Given the description of an element on the screen output the (x, y) to click on. 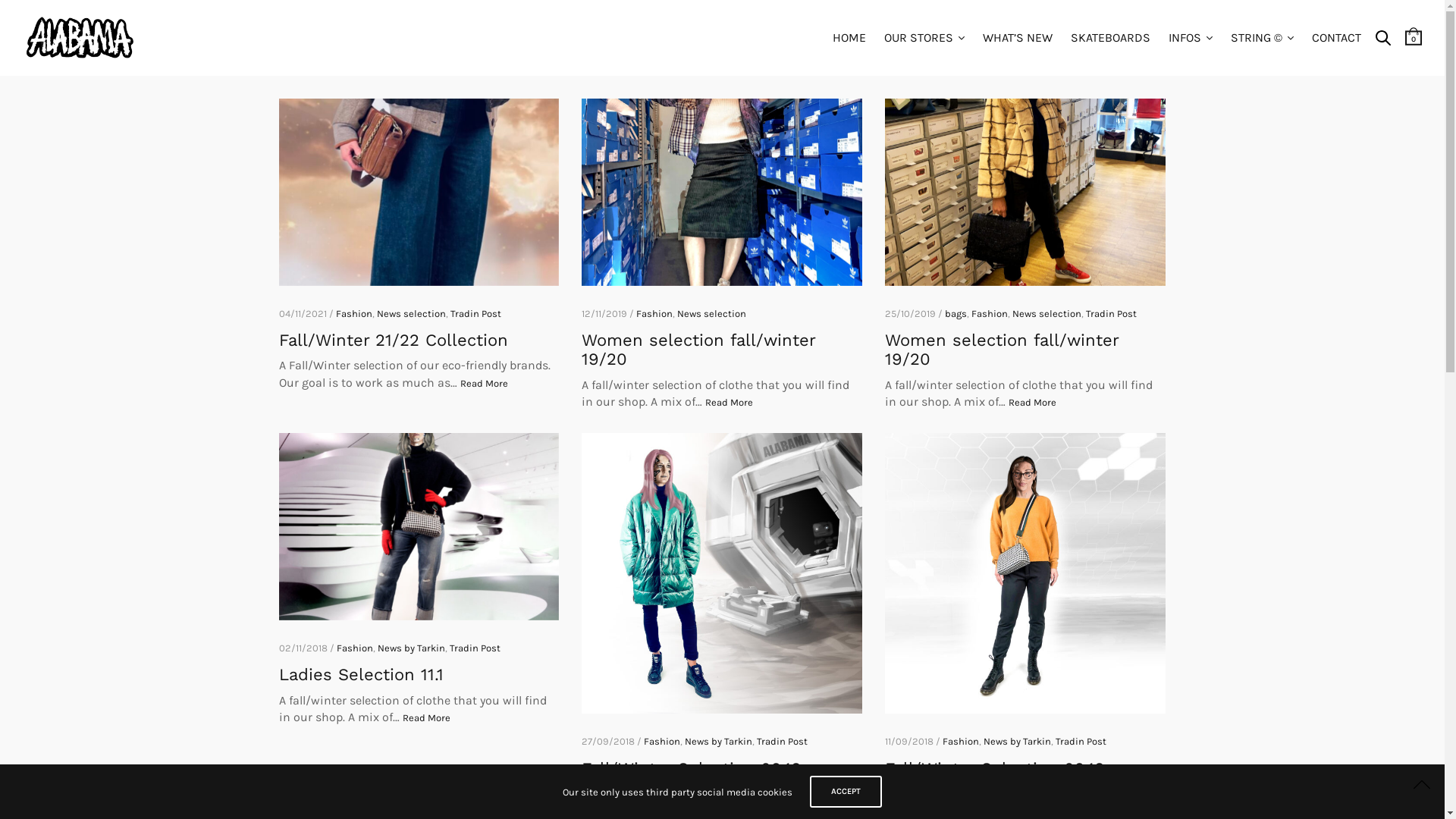
Tradin Post Element type: text (1110, 313)
Fall/Winter Selection 09.18 Element type: text (691, 768)
Fashion Element type: text (989, 313)
News by Tarkin Element type: text (411, 647)
News selection Element type: text (1046, 313)
Read More Element type: text (729, 811)
Fashion Element type: text (353, 313)
Tradin Post Element type: text (1080, 740)
Fall/Winter Selection 09.18 Element type: hover (721, 573)
Read More Element type: text (1032, 402)
CONTACT Element type: text (1336, 37)
Tradin Post Element type: text (781, 740)
Read More Element type: text (1032, 811)
News by Tarkin Element type: text (1017, 740)
News by Tarkin Element type: text (718, 740)
INFOS Element type: text (1190, 37)
Women selection fall/winter 19/20 Element type: hover (1024, 191)
Tradin Post Element type: text (473, 647)
News selection Element type: text (711, 313)
Fashion Element type: text (661, 740)
Read More Element type: text (729, 402)
OUR STORES Element type: text (924, 37)
Women selection fall/winter 19/20 Element type: hover (721, 191)
Women selection fall/winter 19/20 Element type: text (698, 349)
ACCEPT Element type: text (845, 791)
0 Element type: text (1413, 37)
Read More Element type: text (483, 383)
Fall/Winter Selection 09.18 Element type: text (994, 768)
Fall/Winter Selection 09.18 Element type: hover (1024, 573)
Fall/Winter 21/22 Collection Element type: text (393, 339)
Fashion Element type: text (354, 647)
bags Element type: text (955, 313)
Ladies Selection 11.1 Element type: text (361, 674)
Read More Element type: text (425, 717)
News selection Element type: text (410, 313)
Fall/Winter 21/22 Collection Element type: hover (419, 191)
HOME Element type: text (849, 37)
Women selection fall/winter 19/20 Element type: text (1001, 349)
Tradin Post Element type: text (475, 313)
Ladies Selection 11.1 Element type: hover (419, 526)
Fashion Element type: text (654, 313)
SKATEBOARDS Element type: text (1110, 37)
Fashion Element type: text (960, 740)
